Given the description of an element on the screen output the (x, y) to click on. 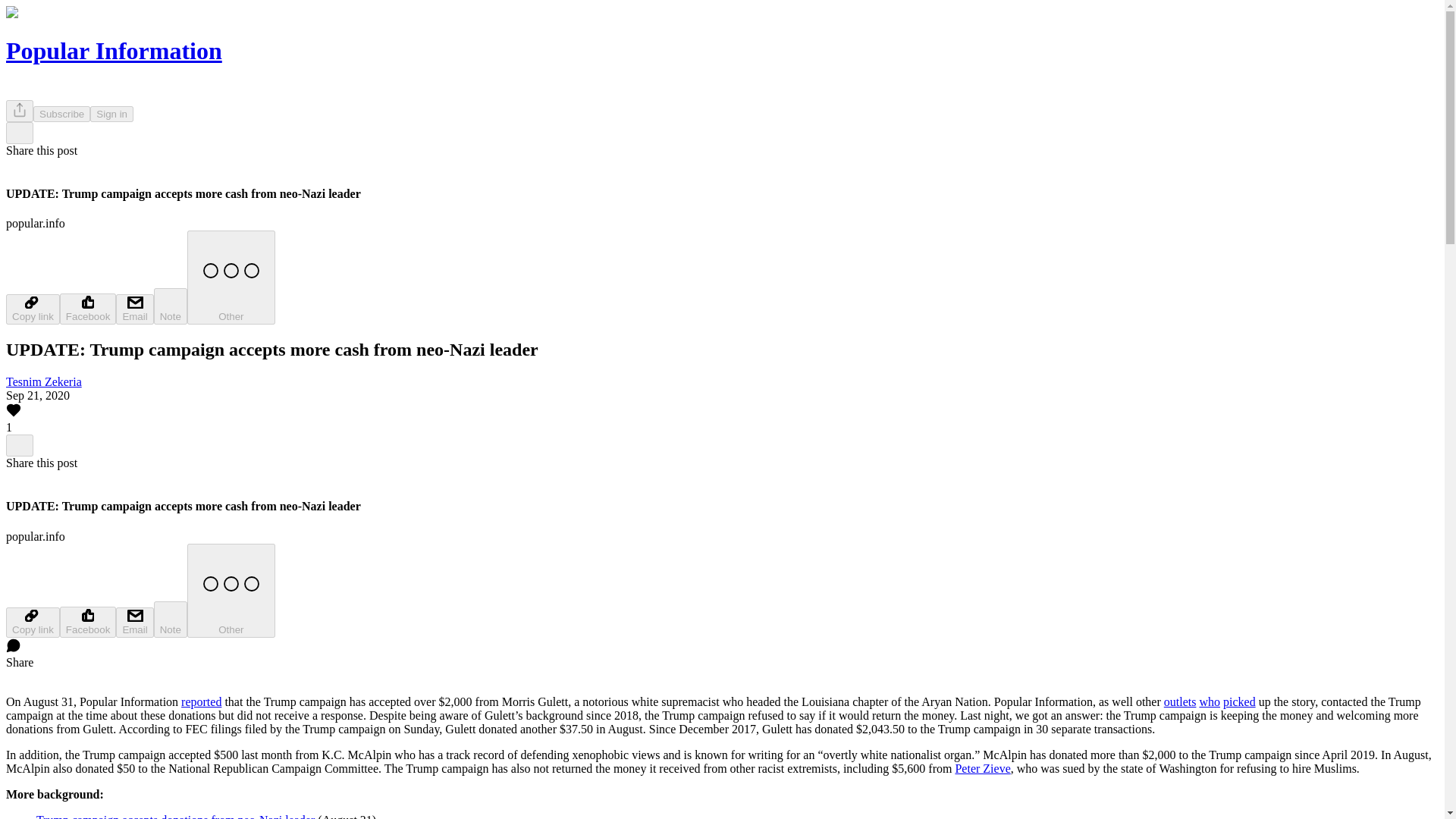
Facebook (87, 622)
Email (134, 309)
picked (1239, 701)
Peter Zieve (982, 768)
Note (170, 619)
Popular Information (113, 50)
Copy link (32, 309)
Subscribe (61, 114)
Copy link (32, 622)
Sign in (111, 114)
outlets (1179, 701)
Trump campaign accepts donations from neo-Nazi leader (175, 816)
reported (200, 701)
Other (231, 277)
Note (170, 306)
